Given the description of an element on the screen output the (x, y) to click on. 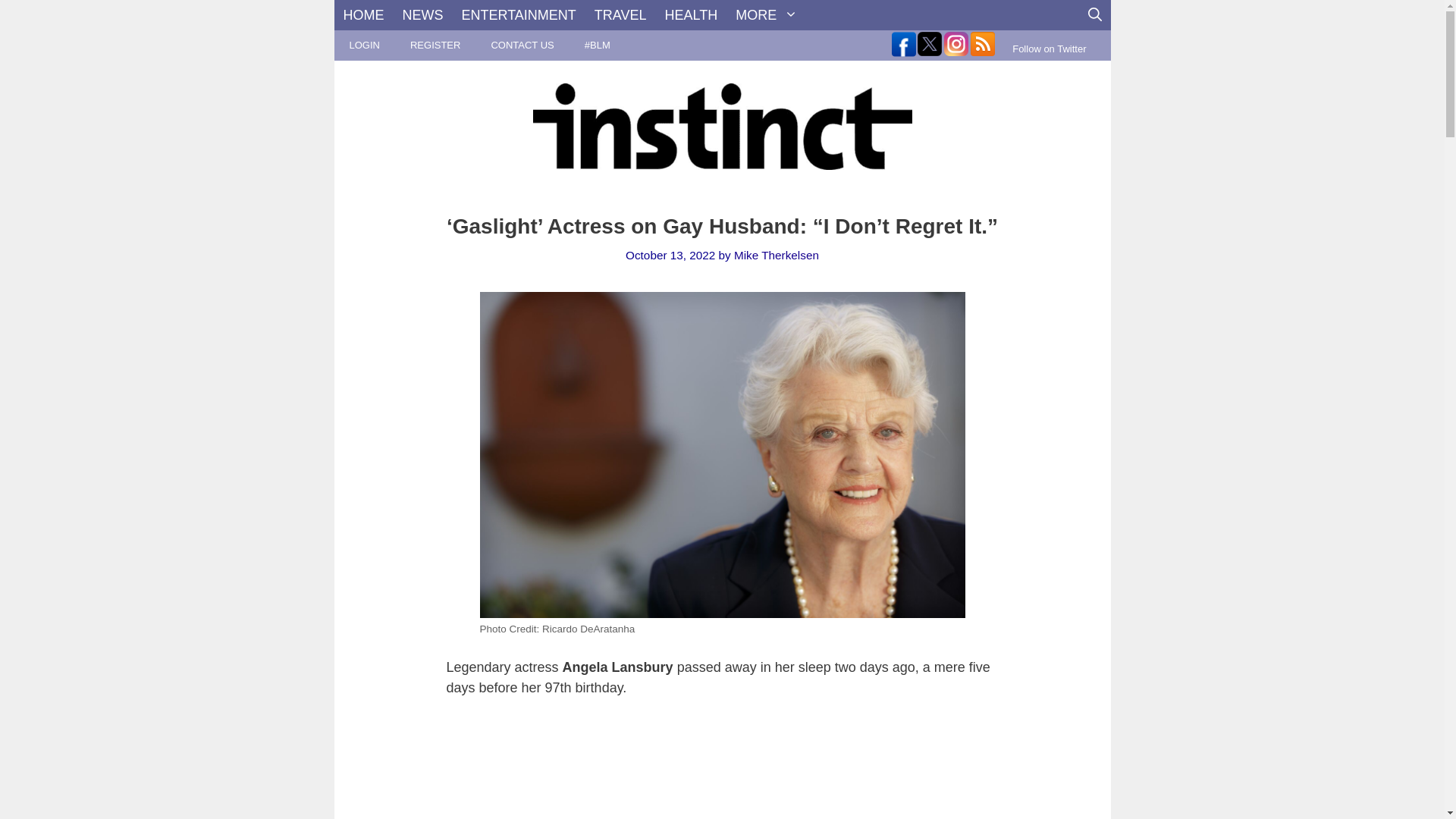
REGISTER (435, 45)
CONTACT US (522, 45)
Follow on Twitter (1048, 49)
HEALTH (691, 15)
ENTERTAINMENT (518, 15)
MORE (766, 15)
LOGIN (363, 45)
NEWS (422, 15)
TRAVEL (620, 15)
View all posts by Mike Therkelsen (775, 254)
HOME (363, 15)
Mike Therkelsen (775, 254)
